Given the description of an element on the screen output the (x, y) to click on. 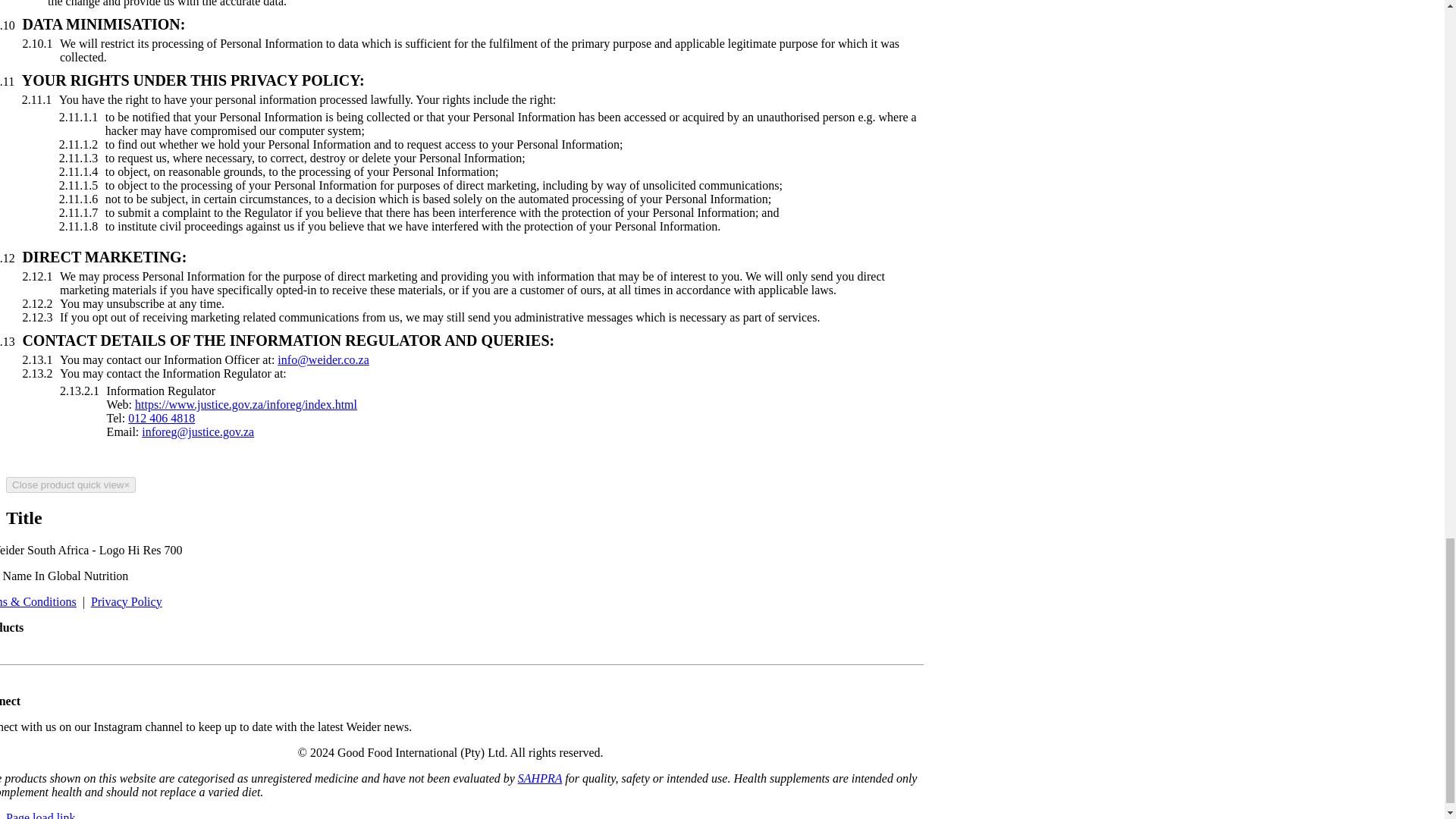
weider-logo-high-res (91, 550)
Privacy Policy (125, 601)
SAHPRA (540, 778)
012 406 4818 (161, 418)
